Given the description of an element on the screen output the (x, y) to click on. 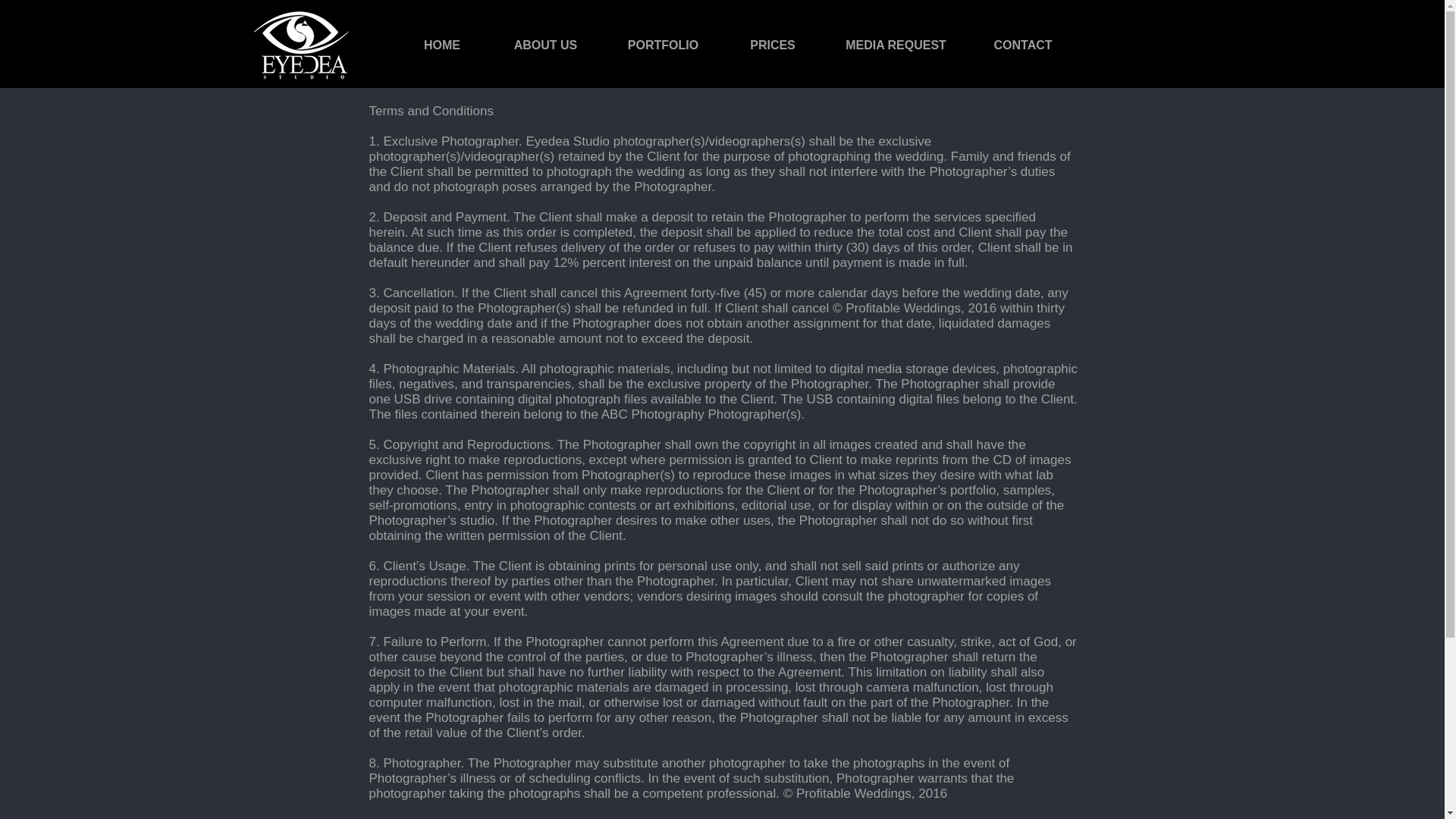
HOME (441, 45)
PORTFOLIO (663, 45)
PRICES (772, 45)
MEDIA REQUEST (895, 45)
CONTACT (1022, 45)
ABOUT US (545, 45)
